Given the description of an element on the screen output the (x, y) to click on. 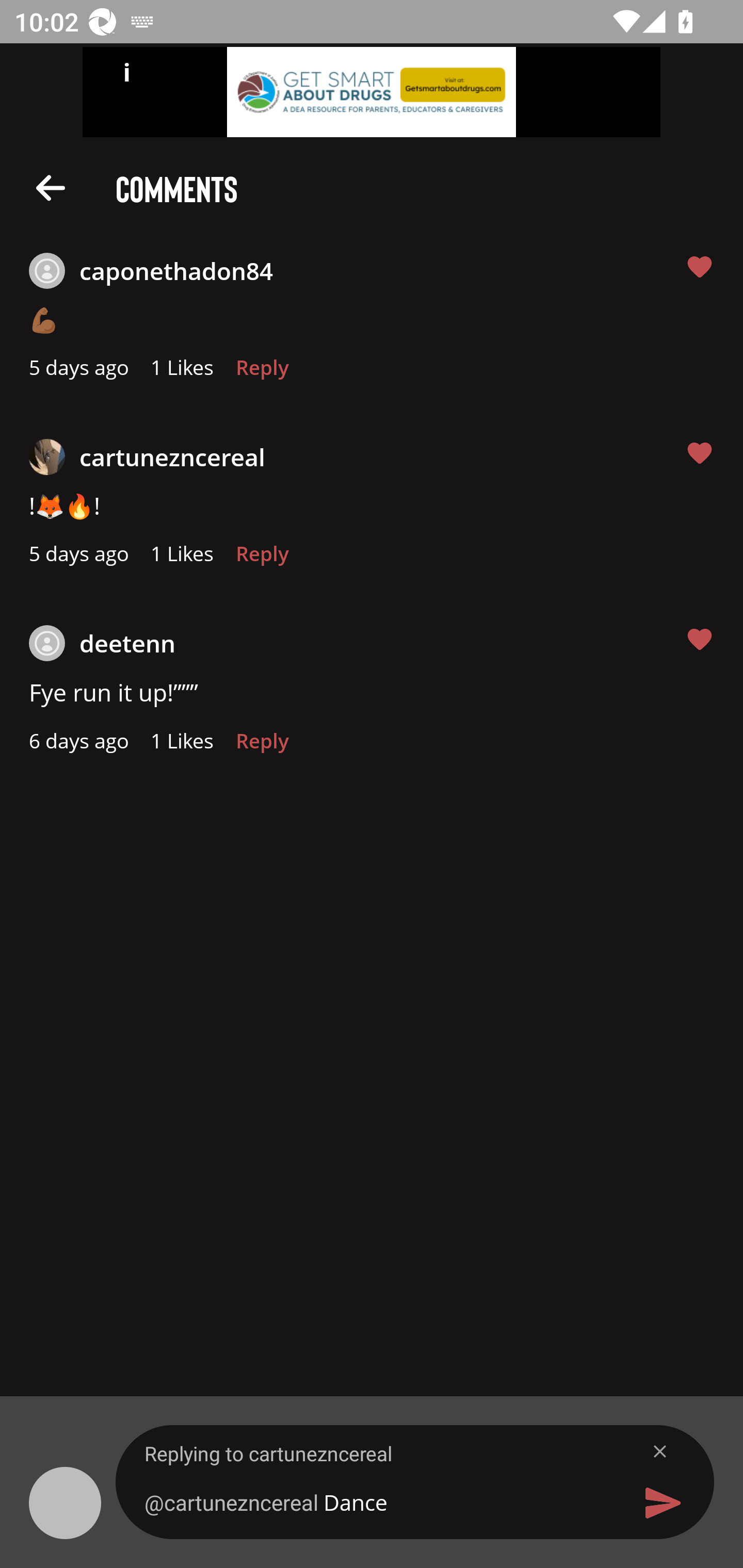
Description (50, 187)
Reply (261, 372)
Reply (261, 558)
Reply (261, 746)
Dance (378, 1502)
